Given the description of an element on the screen output the (x, y) to click on. 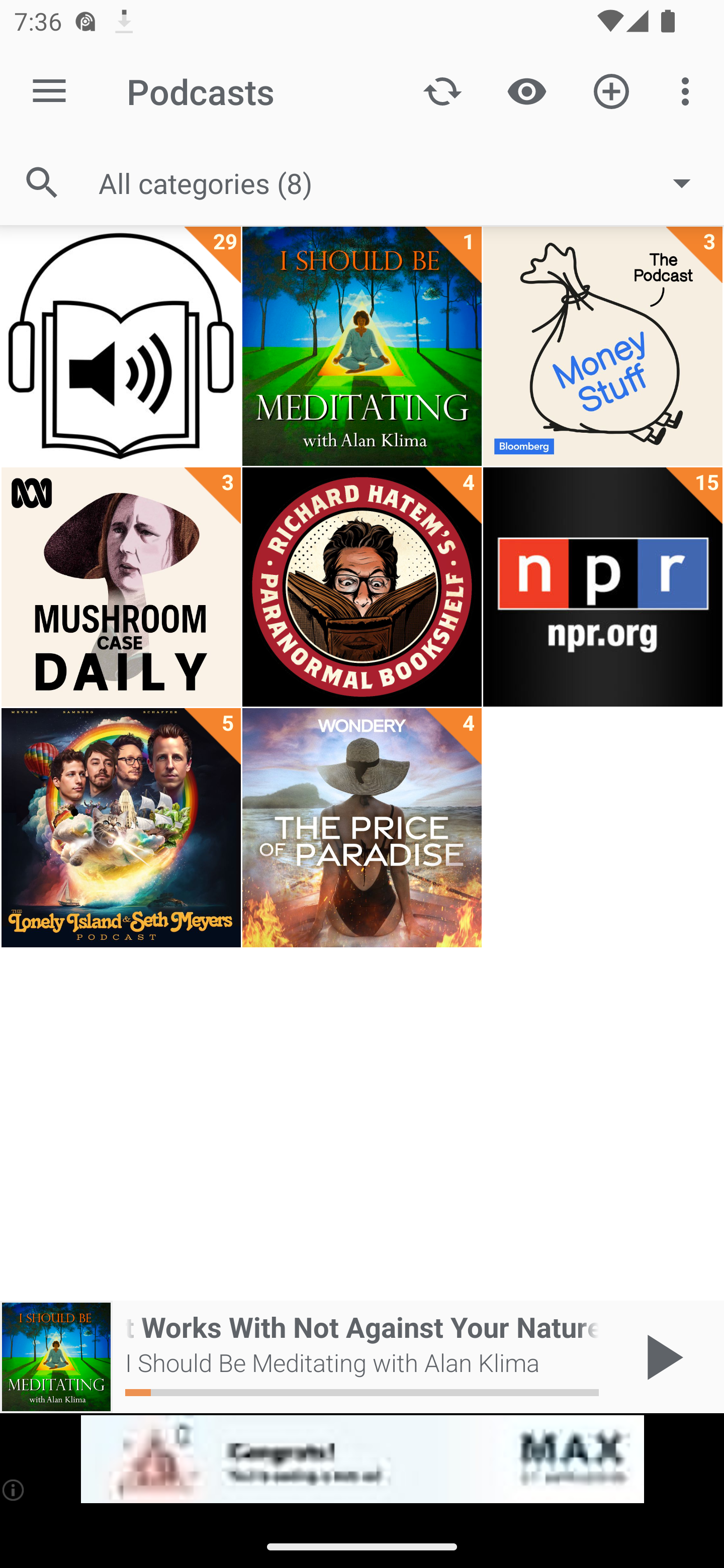
Open navigation sidebar (49, 91)
Update (442, 90)
Show / Hide played content (526, 90)
Add new Podcast (611, 90)
More options (688, 90)
Search (42, 183)
All categories (8) (404, 182)
Audiobooks 29 (121, 346)
Money Stuff: The Podcast 3 (602, 346)
Mushroom Case Daily 3 (121, 587)
Richard Hatem's Paranormal Bookshelf 4 (361, 587)
Stories from NPR : NPR 15 (602, 587)
The Lonely Island and Seth Meyers Podcast 5 (121, 827)
The Price of Paradise 4 (361, 827)
Play / Pause (660, 1356)
app-monetization (362, 1459)
(i) (14, 1489)
